Given the description of an element on the screen output the (x, y) to click on. 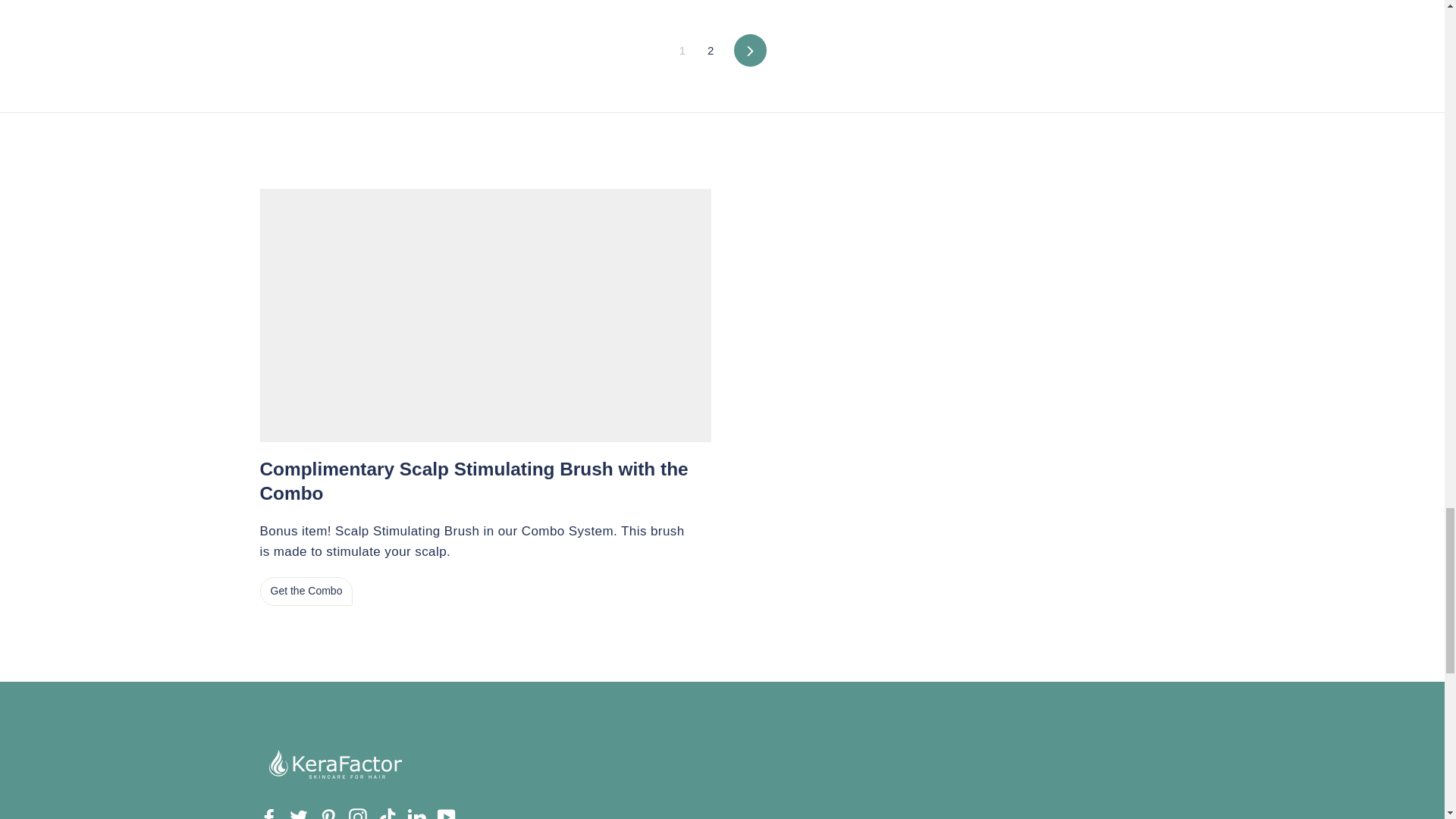
KeraFactor by SkinQRI on Pinterest (327, 812)
KeraFactor by SkinQRI on Facebook (268, 812)
KeraFactor by SkinQRI on LinkedIn (416, 812)
KeraFactor by SkinQRI on TikTok (386, 812)
KeraFactor by SkinQRI on YouTube (445, 812)
KeraFactor by SkinQRI on Twitter (298, 812)
KeraFactor by SkinQRI on Instagram (357, 812)
